Given the description of an element on the screen output the (x, y) to click on. 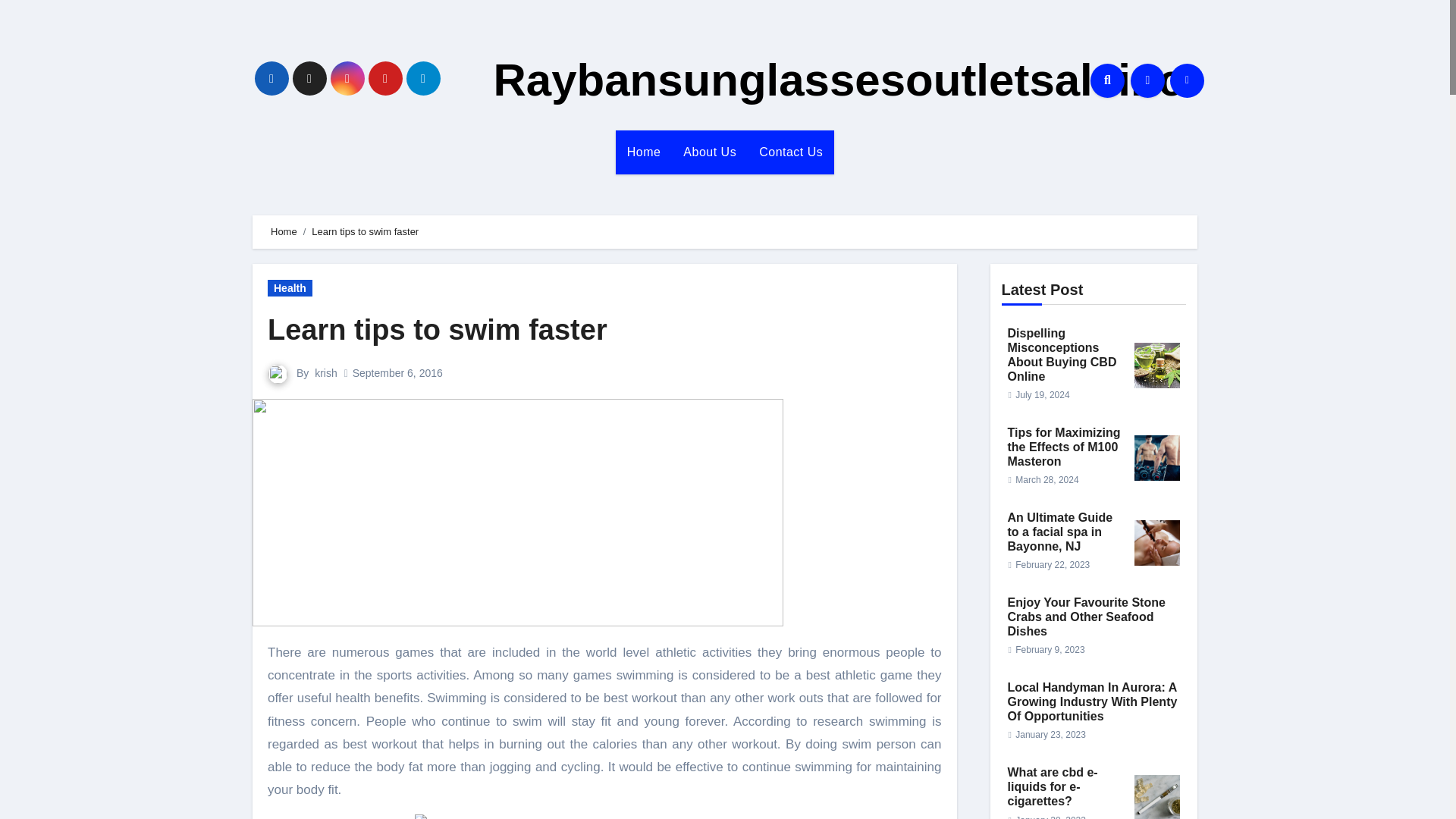
About Us (709, 152)
krish (325, 372)
Contact Us (791, 152)
Health (290, 288)
Raybansunglassesoutletsaleinc (837, 79)
Home (643, 152)
Permalink to: Learn tips to swim faster (437, 329)
September 6, 2016 (397, 372)
Learn tips to swim faster (437, 329)
Home (283, 231)
Home (643, 152)
